Given the description of an element on the screen output the (x, y) to click on. 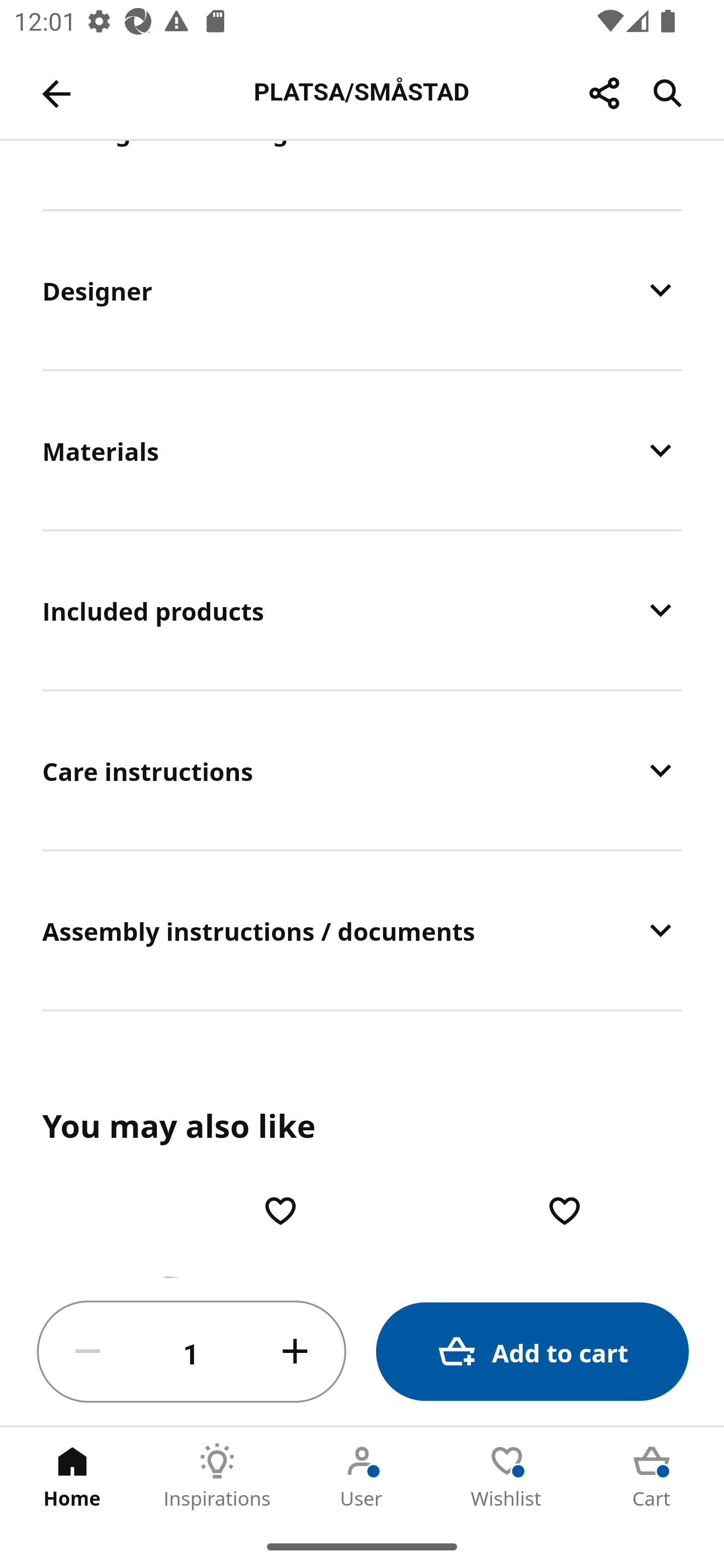
Designer (361, 289)
Materials (361, 450)
Included products (361, 609)
Care instructions (361, 770)
Assembly instructions / documents (361, 930)
Add to cart (531, 1352)
1 (191, 1352)
Home
Tab 1 of 5 (72, 1476)
Inspirations
Tab 2 of 5 (216, 1476)
User
Tab 3 of 5 (361, 1476)
Wishlist
Tab 4 of 5 (506, 1476)
Cart
Tab 5 of 5 (651, 1476)
